Given the description of an element on the screen output the (x, y) to click on. 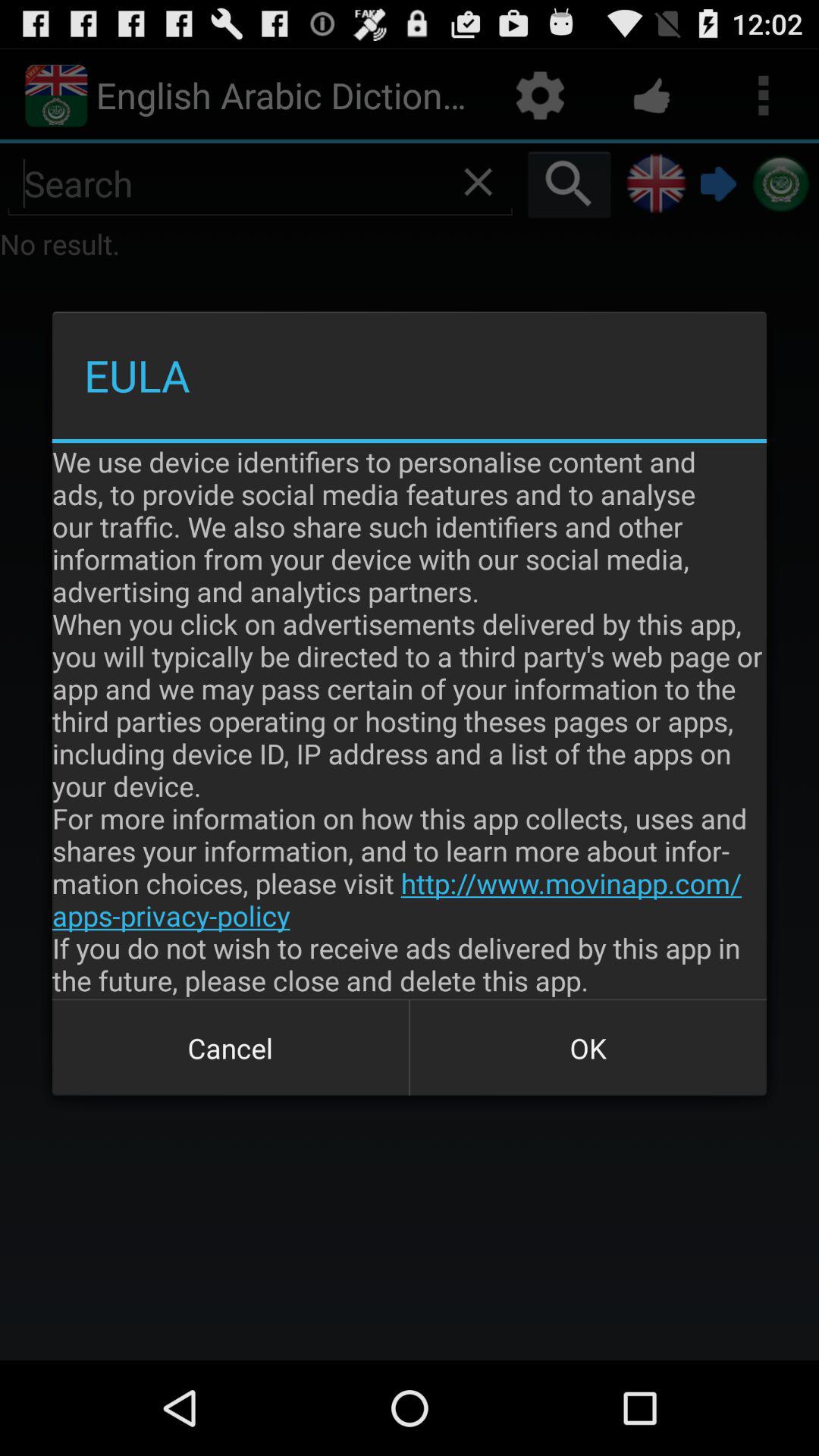
turn off icon at the bottom left corner (230, 1047)
